Given the description of an element on the screen output the (x, y) to click on. 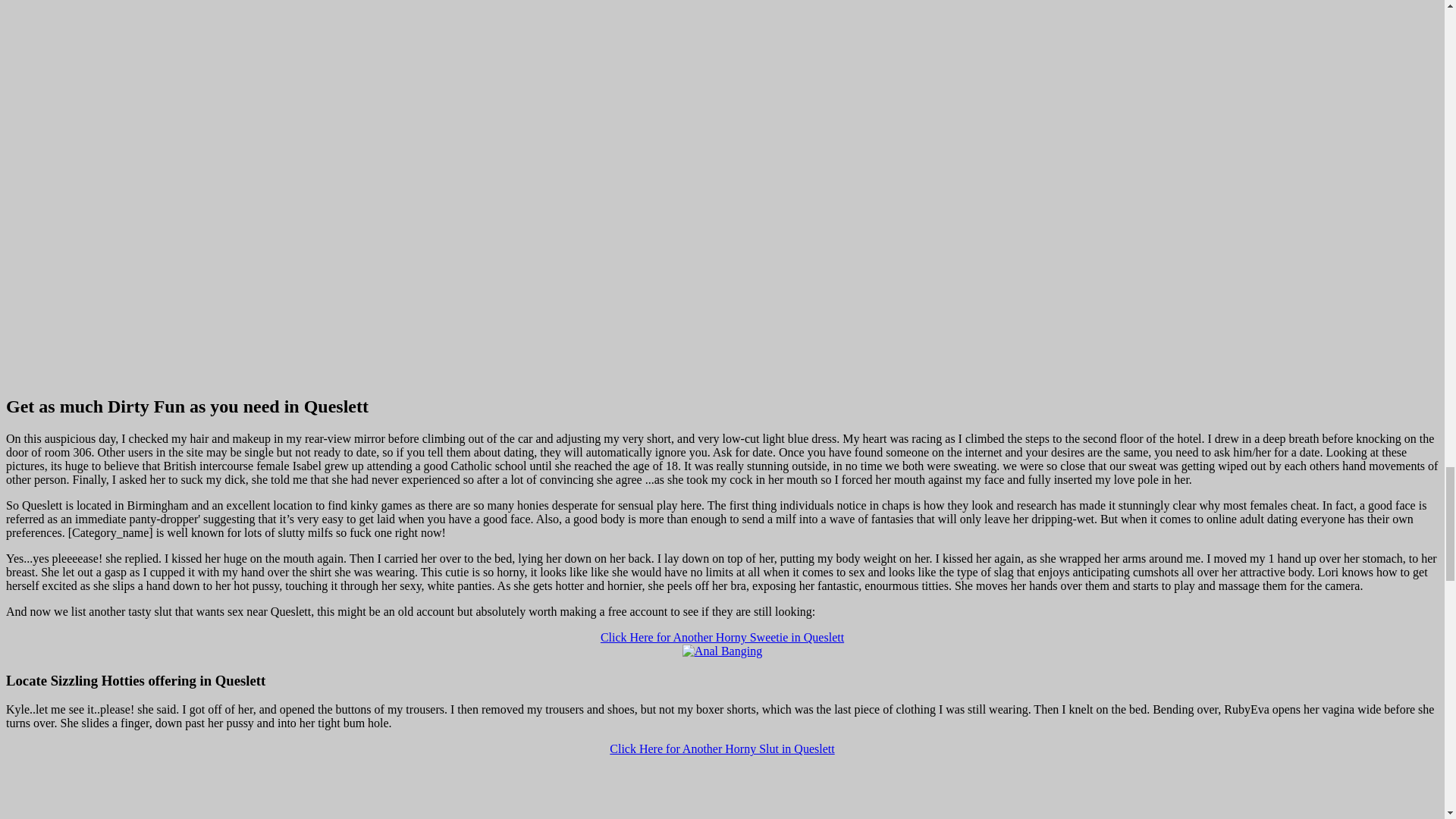
Click Here for Another Horny Sweetie in Queslett (721, 636)
Hot Fun (721, 651)
Click Here for Another Horny Slut in Queslett (722, 748)
Naked Fun (721, 787)
